Given the description of an element on the screen output the (x, y) to click on. 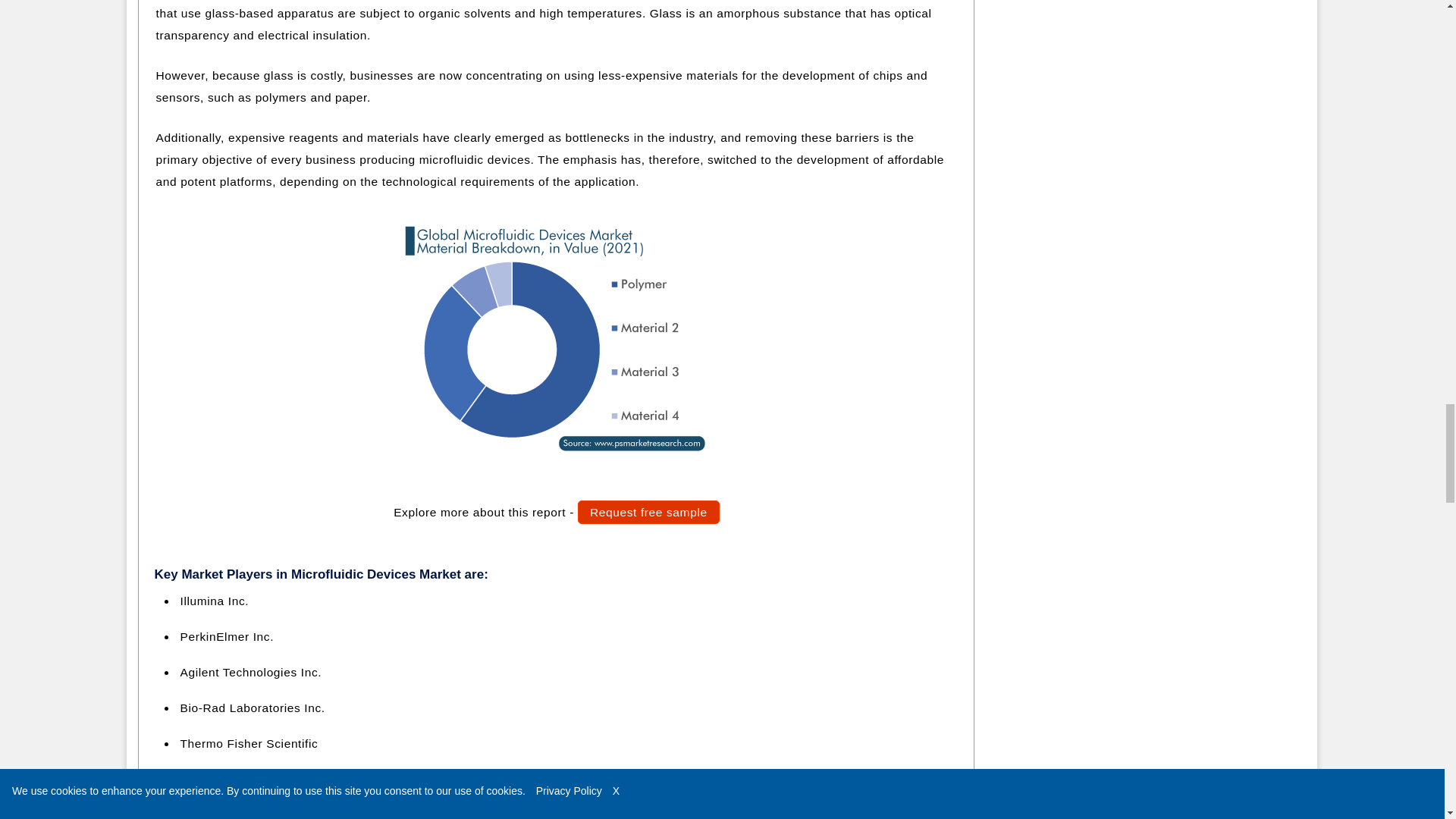
Request free sample (648, 512)
